Given the description of an element on the screen output the (x, y) to click on. 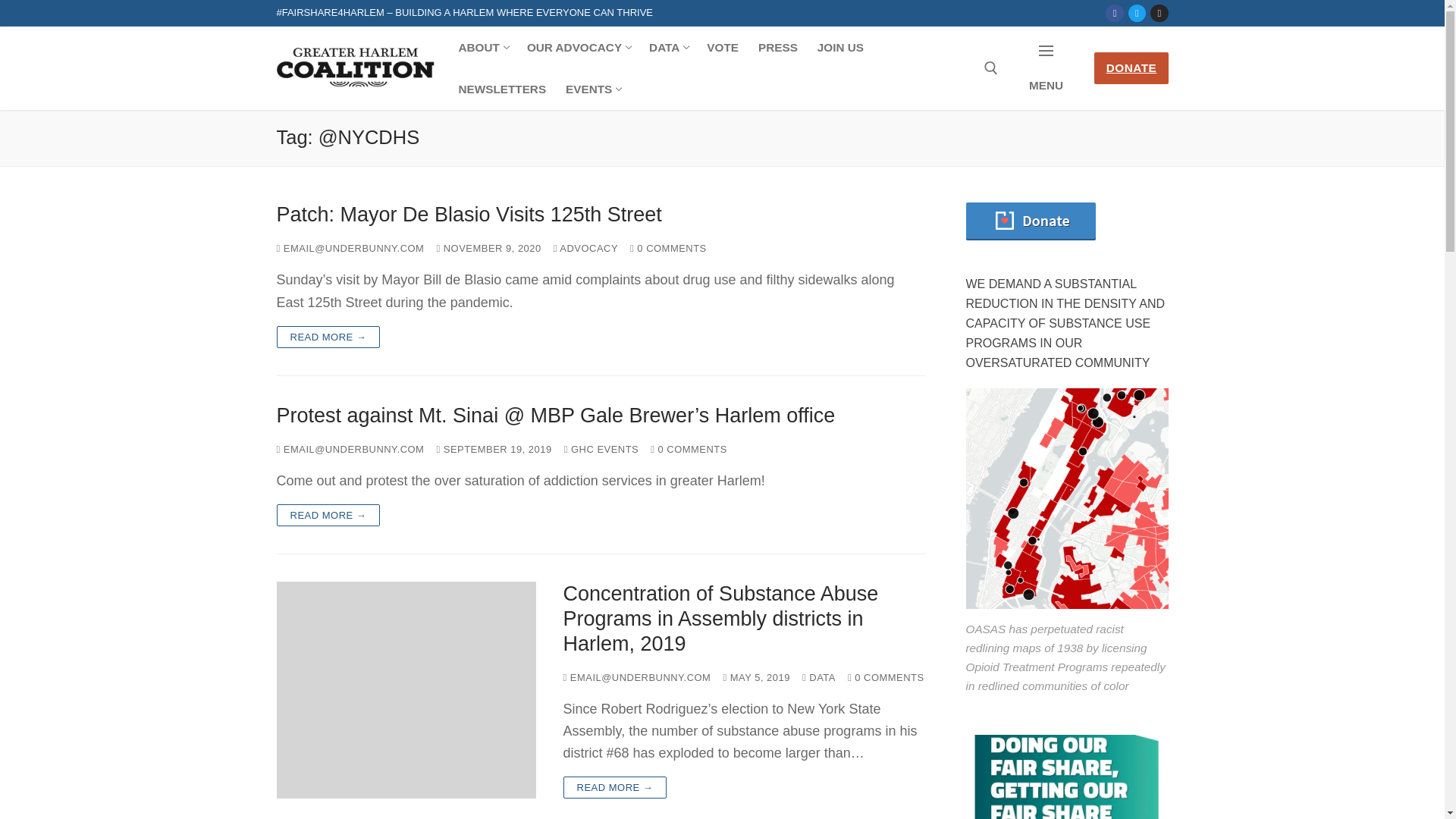
MENU (1046, 68)
NEWSLETTERS (482, 46)
Patch: Mayor De Blasio Visits 125th Street (502, 88)
JOIN US (577, 46)
Twitter (592, 88)
Facebook (600, 214)
VOTE (840, 46)
Instagram (1136, 13)
Patch: Mayor De Blasio Visits 125th Street (1114, 13)
